Given the description of an element on the screen output the (x, y) to click on. 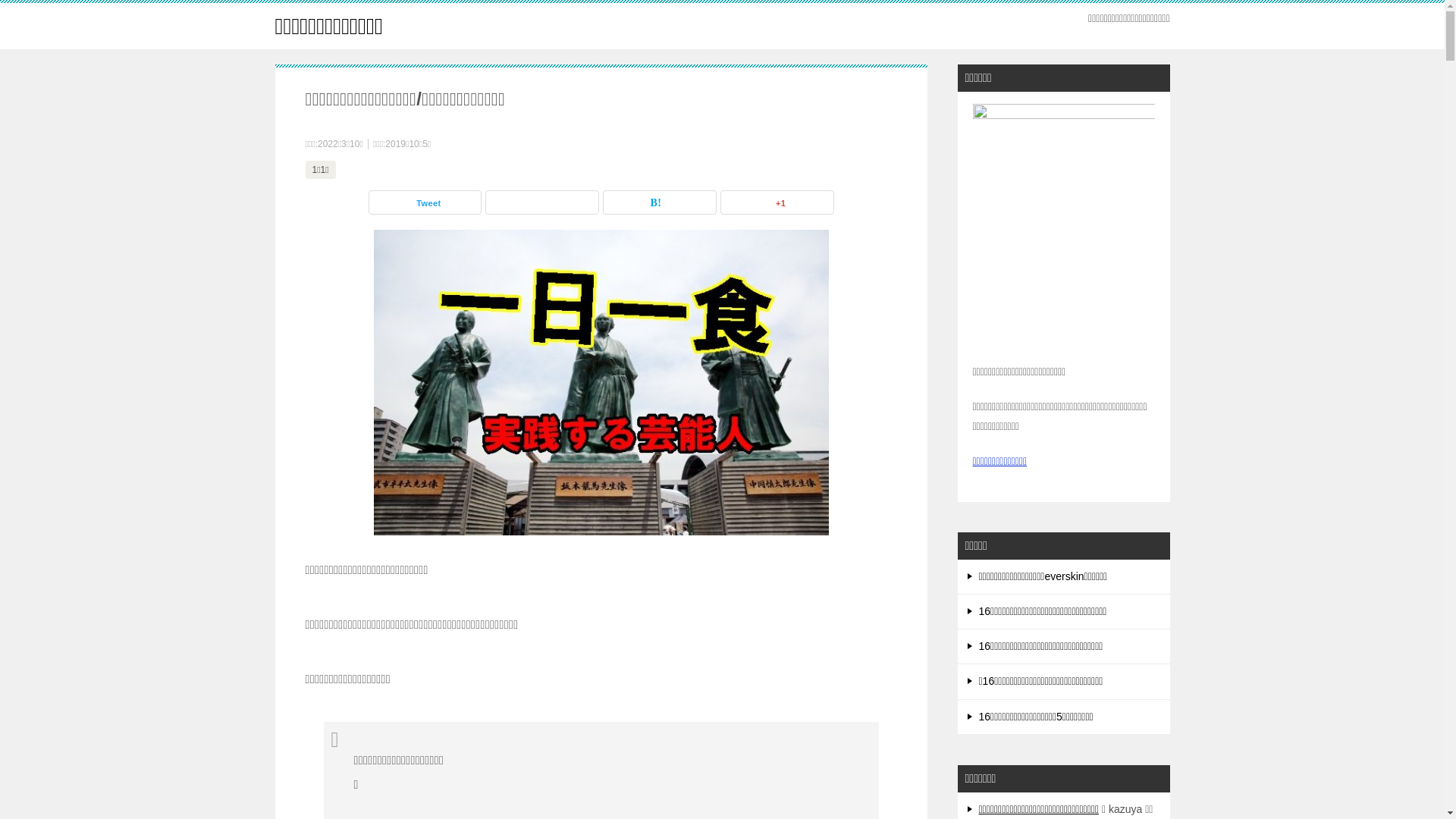
+1 Element type: text (777, 202)
Tweet Element type: text (424, 202)
